Given the description of an element on the screen output the (x, y) to click on. 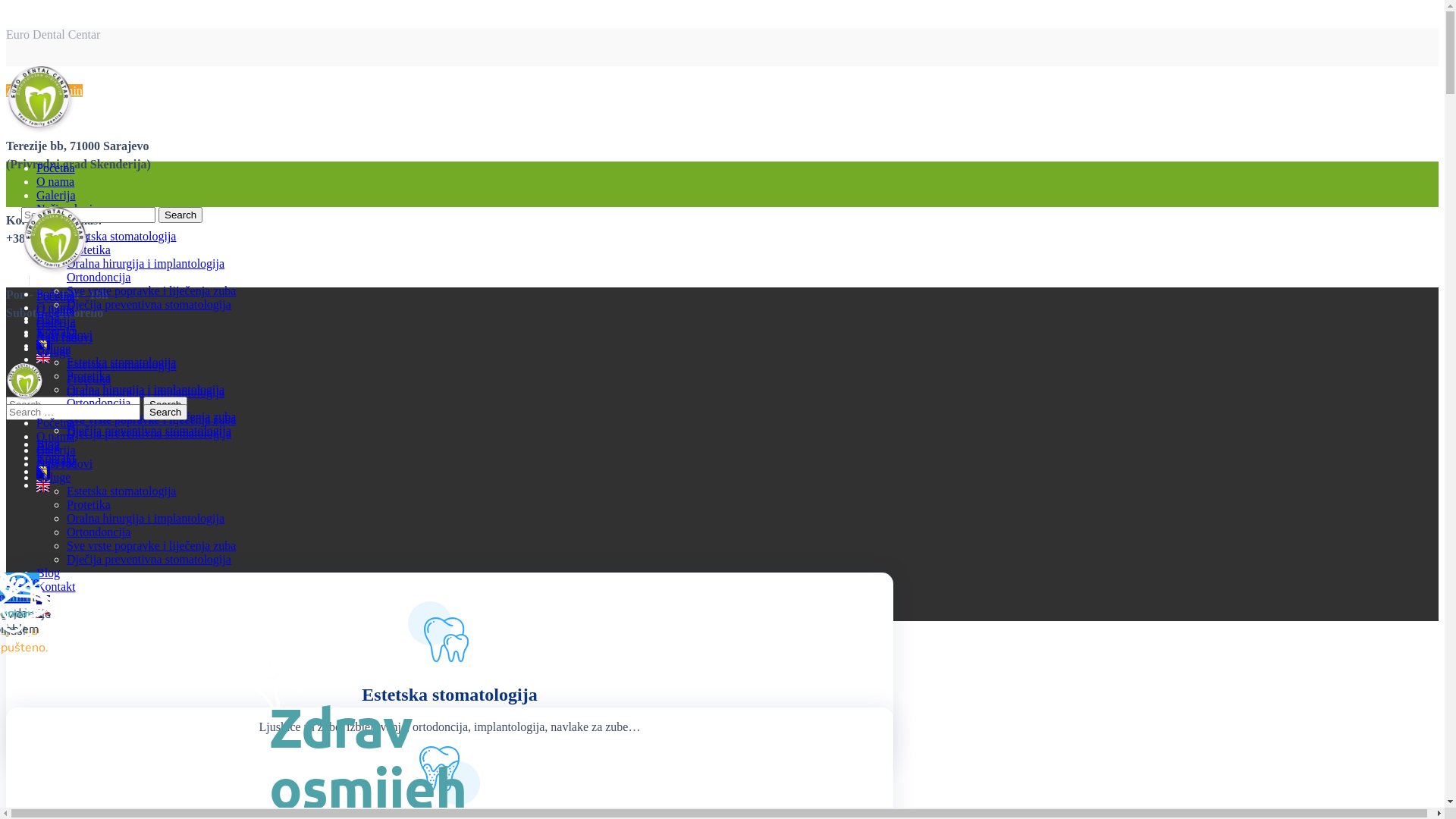
Oralna hirurgija i implantologija Element type: text (145, 517)
O nama Element type: text (55, 307)
Protetika Element type: text (88, 504)
Search Element type: text (165, 404)
Galerija Element type: text (55, 194)
O nama Element type: text (55, 181)
Estetska stomatologija Element type: text (120, 490)
Usluge Element type: text (53, 476)
Protetika Element type: text (88, 249)
Ortondoncija Element type: text (98, 531)
Estetska stomatologija Element type: text (120, 361)
Blog Element type: text (47, 317)
Blog Element type: text (47, 446)
Estetska stomatologija Element type: text (120, 235)
Kontakt Element type: text (55, 331)
Galerija Element type: text (55, 323)
Blog Element type: text (47, 572)
Oralna hirurgija i implantologija Element type: text (145, 388)
Kontakt Element type: text (55, 460)
Oralna hirurgija i implantologija Element type: text (145, 263)
Ortondoncija Element type: text (98, 405)
Galerija Element type: text (55, 320)
Estetska stomatologija Element type: text (120, 364)
Protetika Element type: text (88, 375)
Ortondoncija Element type: text (98, 276)
Kontakt Element type: text (55, 586)
O nama Element type: text (55, 310)
O nama Element type: text (55, 435)
Ortondoncija Element type: text (98, 402)
Blog Element type: text (47, 443)
Kontakt Element type: text (55, 457)
Oralna hirurgija i implantologija Element type: text (145, 391)
Usluge Element type: text (53, 222)
Search Element type: text (180, 214)
Usluge Element type: text (53, 351)
Galerija Element type: text (55, 449)
Protetika Element type: text (88, 378)
Usluge Element type: text (53, 348)
Search Element type: text (165, 412)
